Given the description of an element on the screen output the (x, y) to click on. 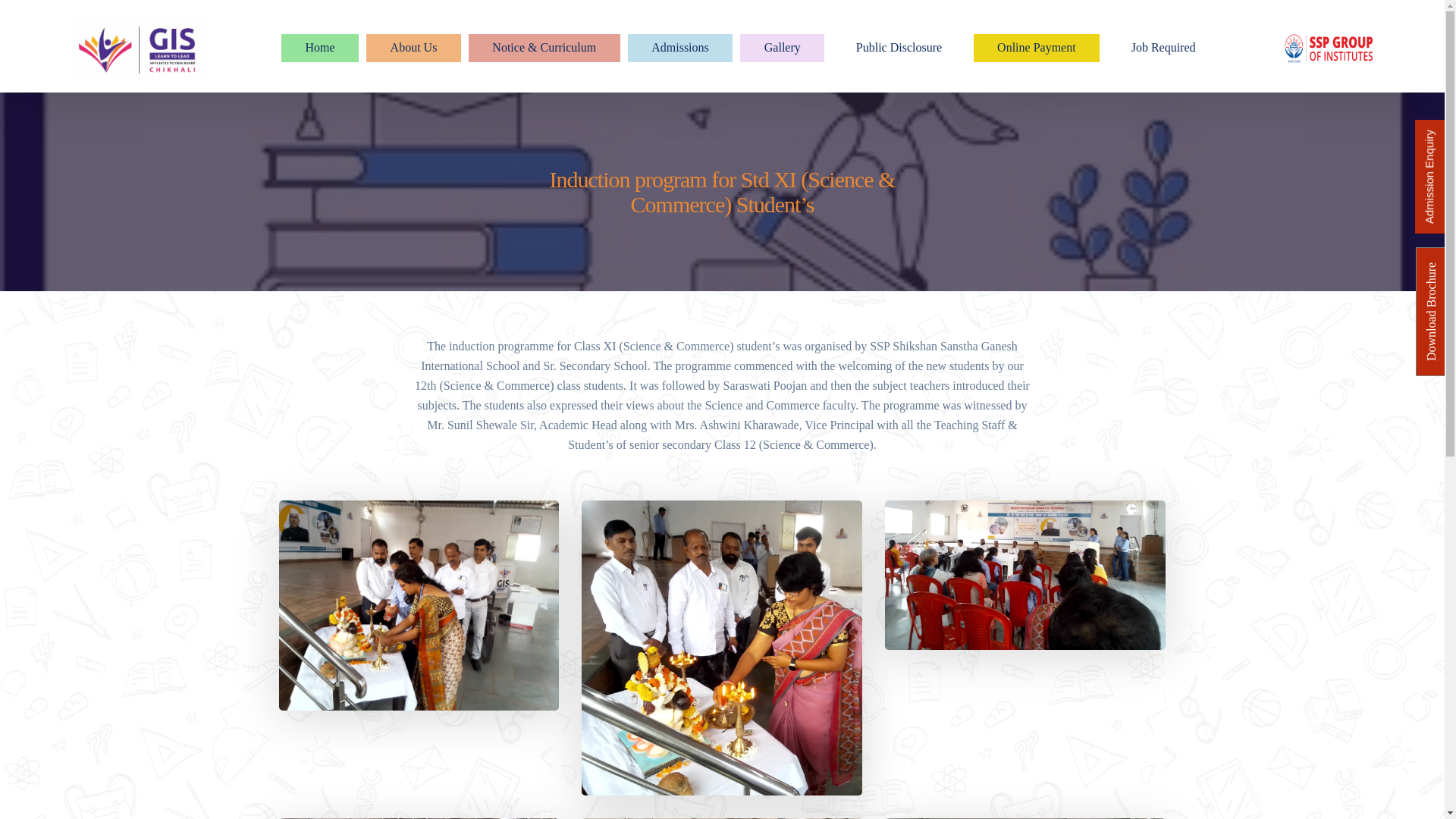
Gallery (781, 48)
Job Required (1163, 48)
Home (319, 48)
About Us (413, 48)
Public Disclosure (898, 48)
Admissions (680, 48)
Online Payment (1037, 48)
